Given the description of an element on the screen output the (x, y) to click on. 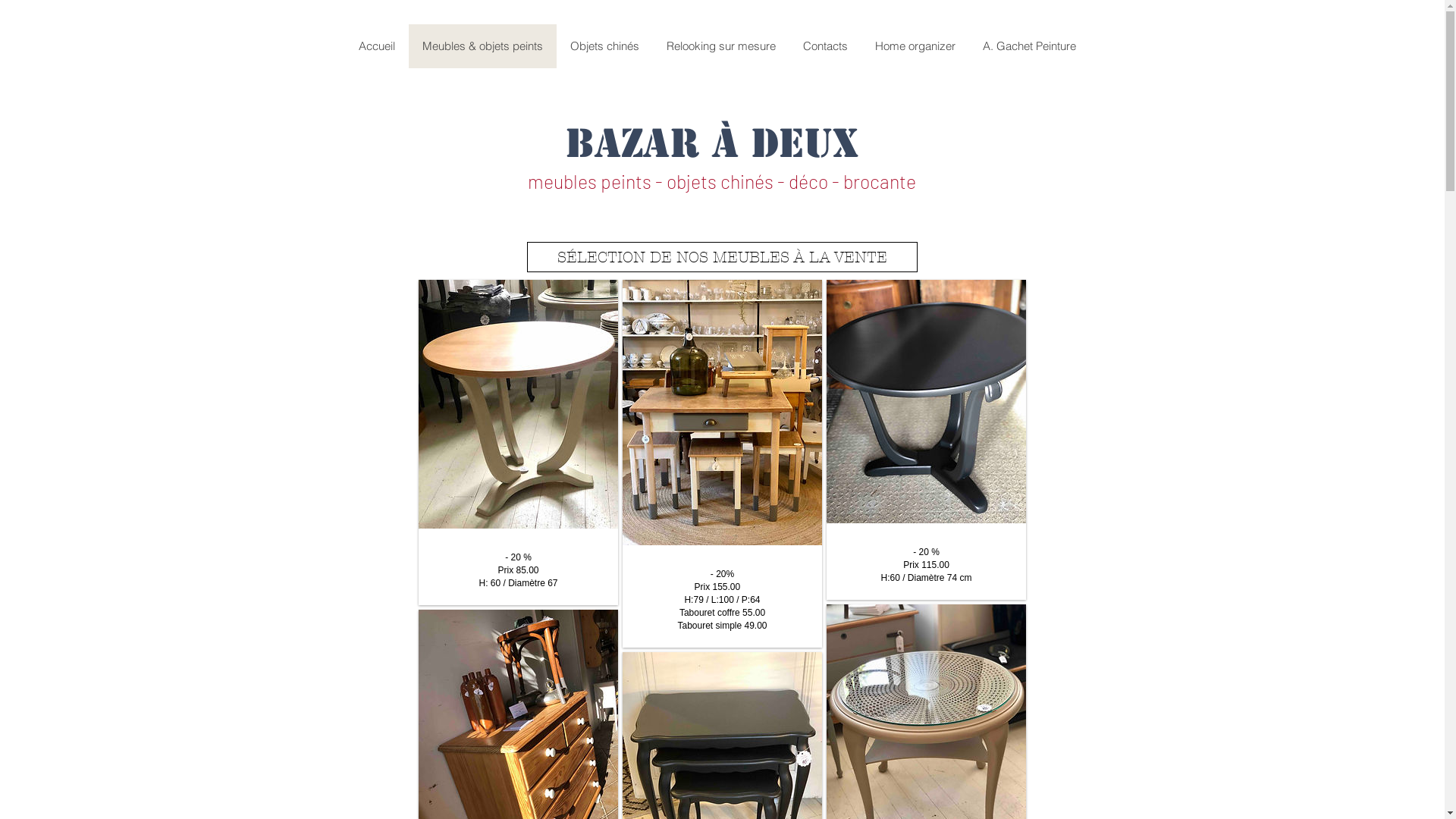
Contacts Element type: text (824, 46)
Accueil Element type: text (375, 46)
Home organizer Element type: text (915, 46)
Meubles & objets peints Element type: text (481, 46)
Relooking sur mesure Element type: text (720, 46)
A. Gachet Peinture Element type: text (1029, 46)
